Given the description of an element on the screen output the (x, y) to click on. 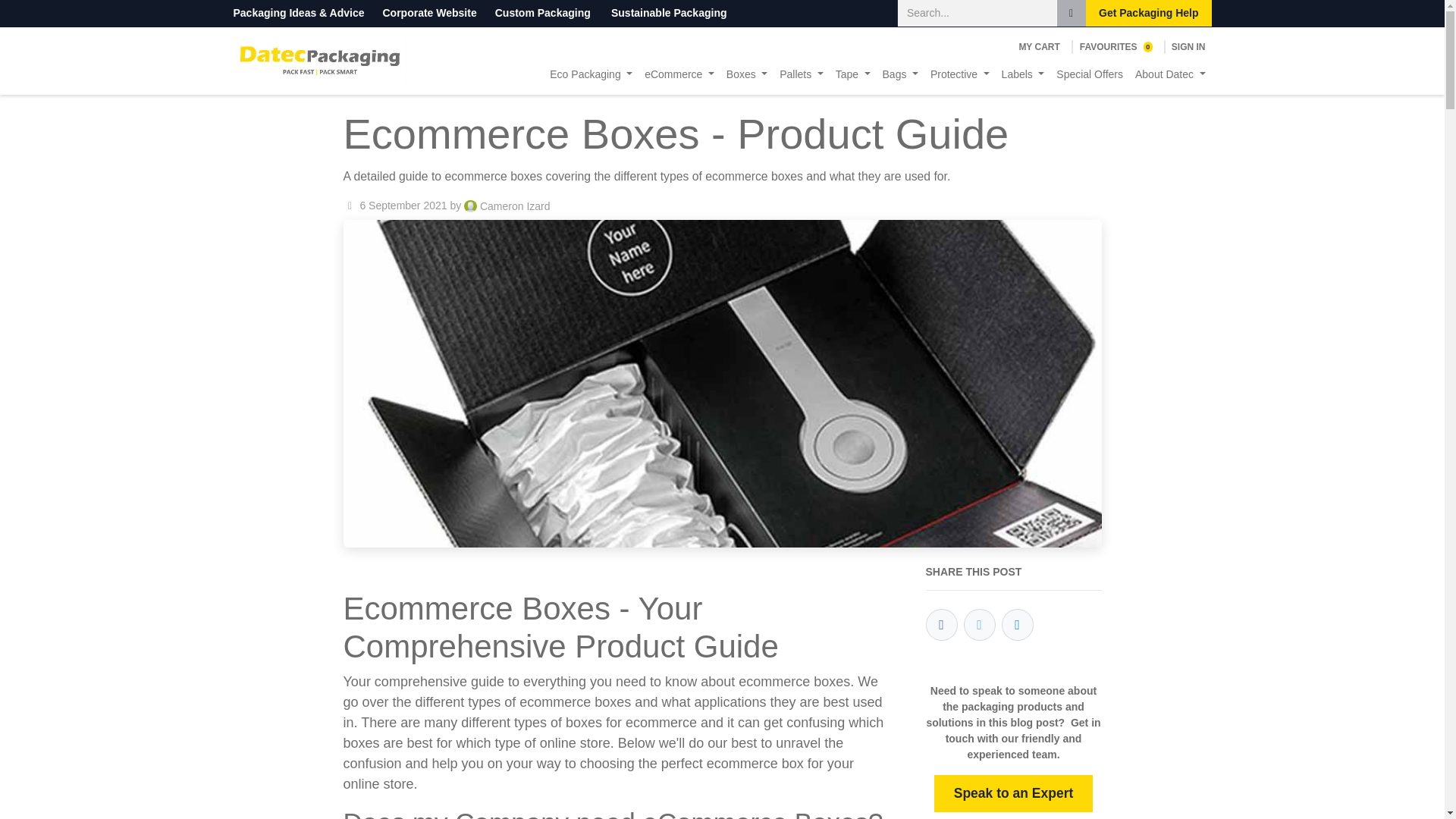
Eco Packaging (591, 74)
Sustainable Packaging (668, 12)
MY CART (1038, 46)
Get Packaging Help (1148, 13)
Corporate Website (428, 12)
eCommerce (679, 74)
Datec Packaging Online (319, 61)
SIGN IN (1188, 46)
Search (1071, 13)
Boxes (1115, 46)
